Given the description of an element on the screen output the (x, y) to click on. 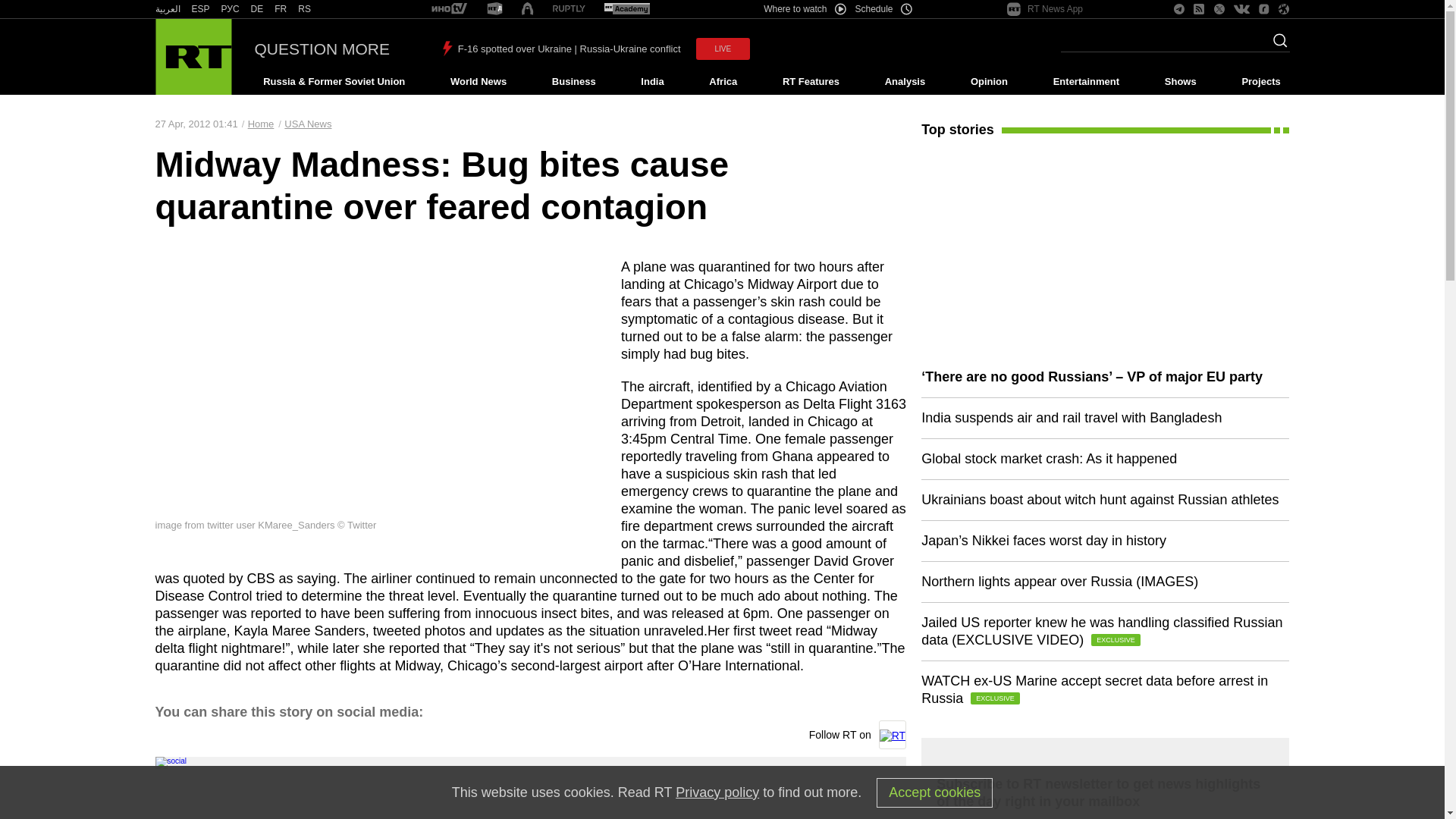
Opinion (988, 81)
World News (478, 81)
RT  (448, 9)
QUESTION MORE (322, 48)
DE (256, 9)
India (651, 81)
RT  (280, 9)
RT  (626, 9)
Shows (1180, 81)
RT  (569, 8)
RS (304, 9)
Analysis (905, 81)
Search (1276, 44)
RT  (256, 9)
RT News App (1045, 9)
